Given the description of an element on the screen output the (x, y) to click on. 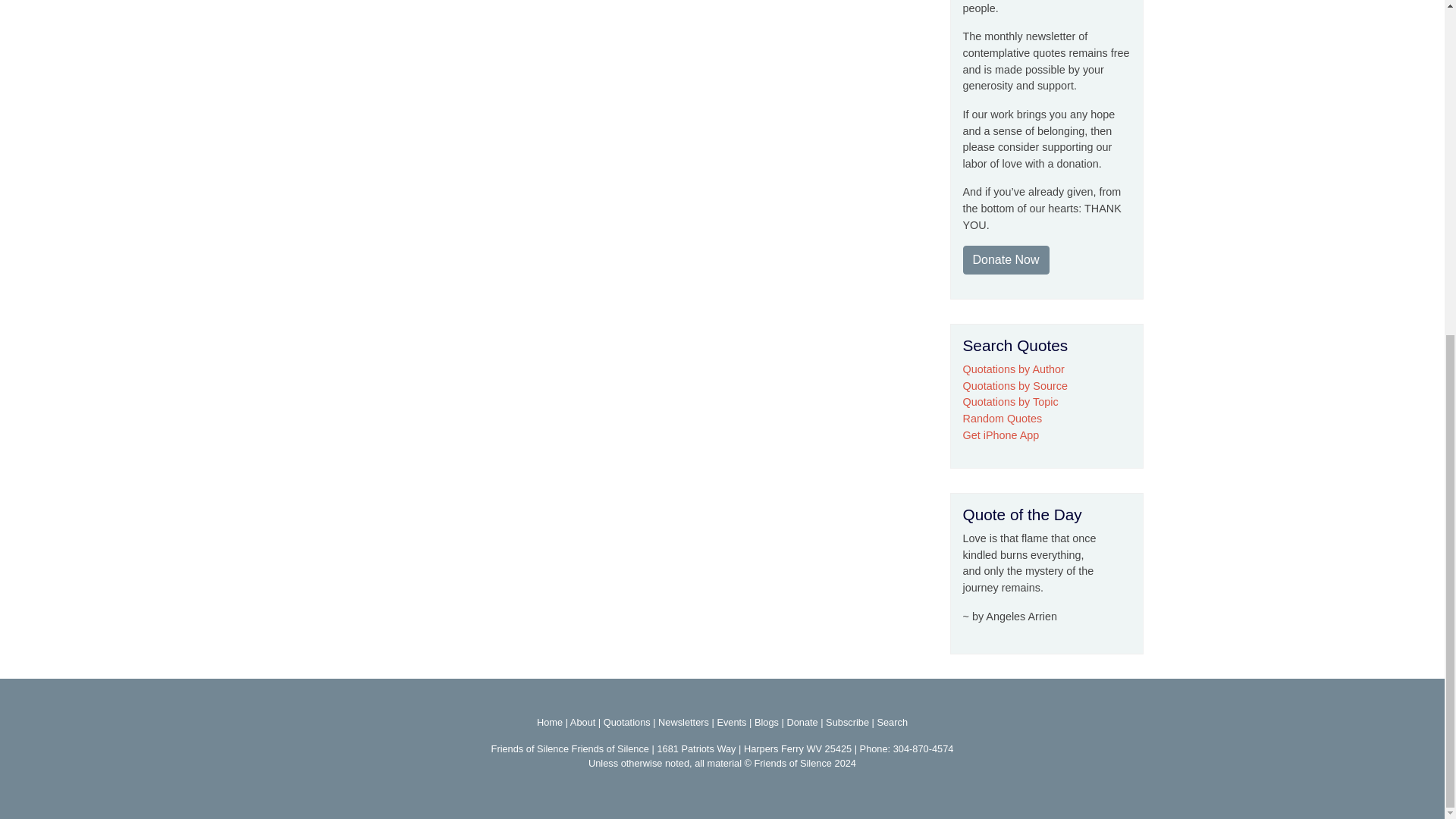
Donate (801, 722)
Blogs (766, 722)
Quotations by Source (1014, 386)
Quotations by Topic (1010, 401)
Quotations by Author (1013, 369)
Subscribe (847, 722)
Search (891, 722)
Quotations (627, 722)
Random Quotes (1002, 418)
Donate Now (1005, 259)
